Given the description of an element on the screen output the (x, y) to click on. 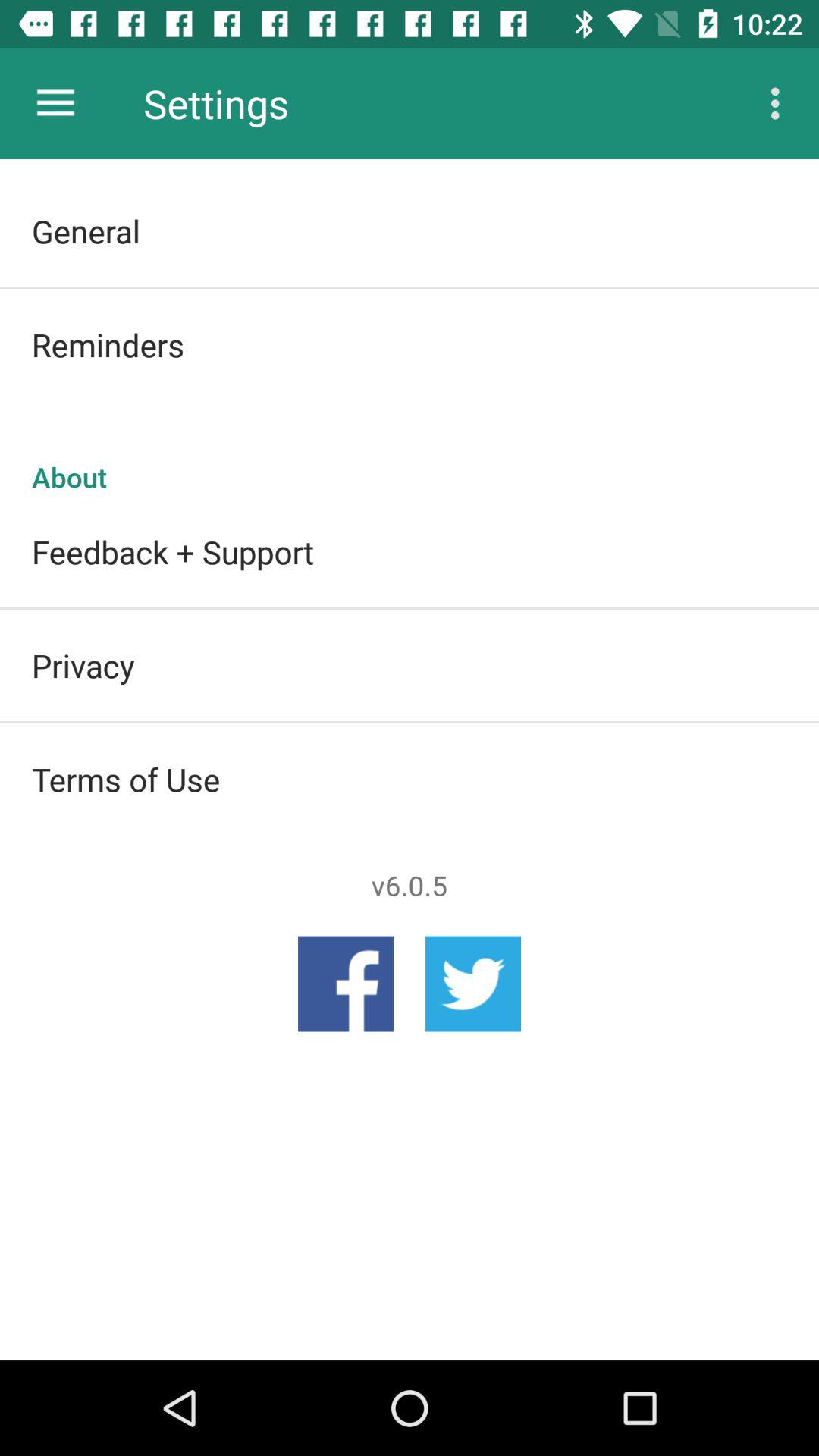
visit twitter page (472, 983)
